Given the description of an element on the screen output the (x, y) to click on. 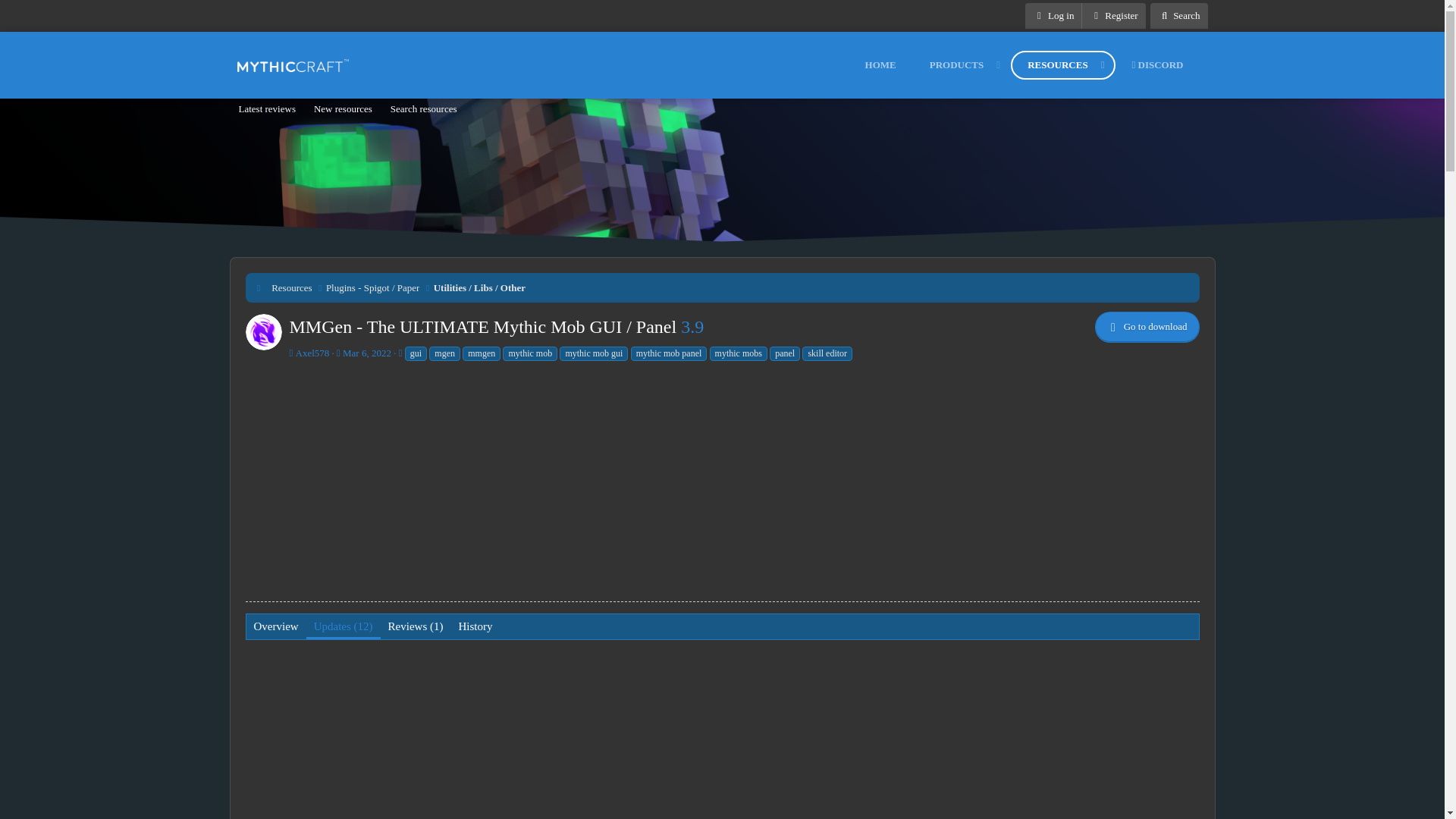
PRODUCTS (961, 64)
Search (1178, 15)
Resources (290, 287)
Go to download (1146, 327)
New resources (342, 109)
Axel578 (312, 352)
Search (1024, 64)
Advertisement (1178, 15)
RESOURCES (423, 109)
Latest reviews (1050, 64)
Log in (266, 109)
Mar 6, 2022 at 5:21 AM (1053, 15)
